Given the description of an element on the screen output the (x, y) to click on. 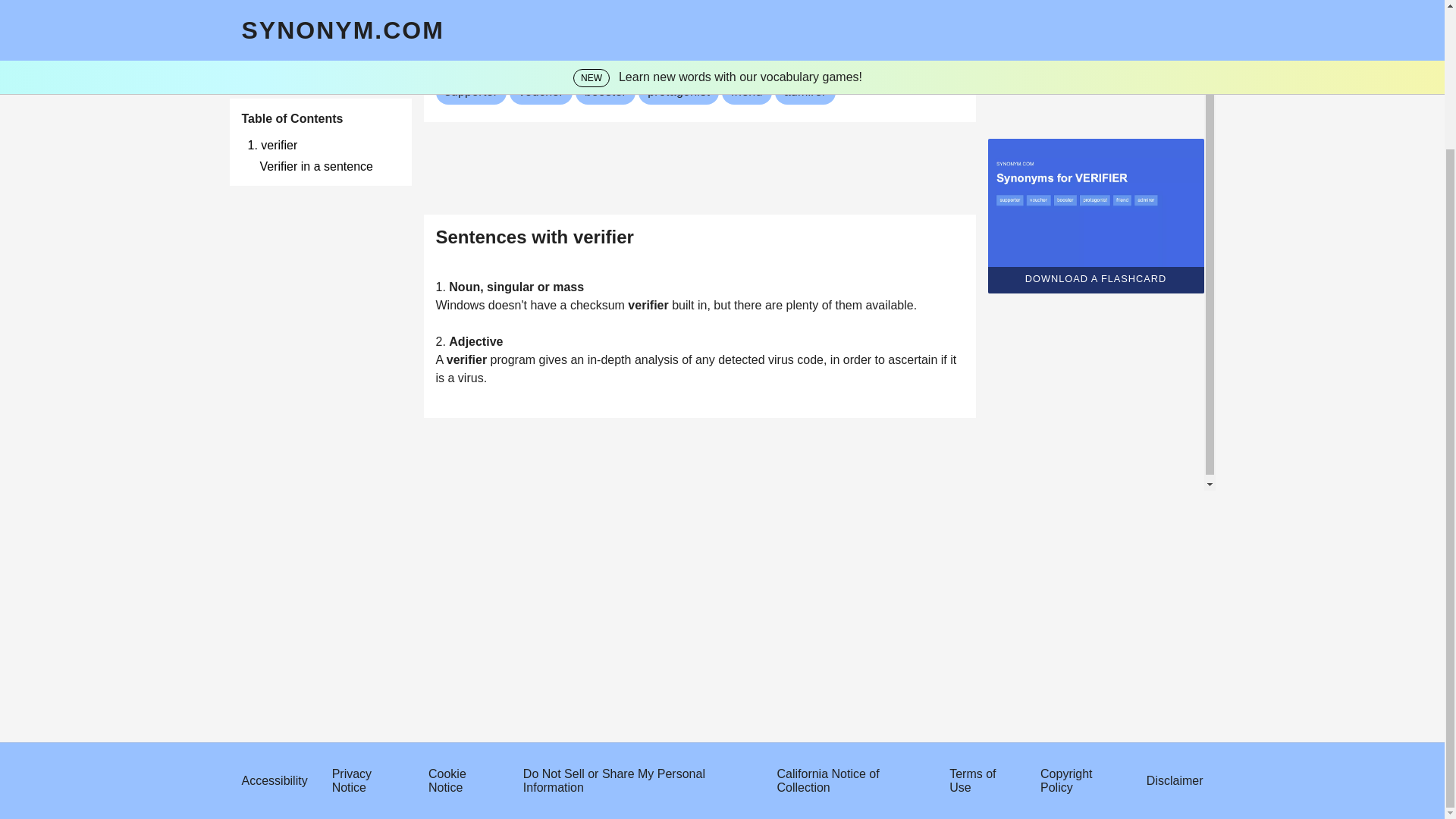
program (514, 359)
them (849, 305)
singular (511, 286)
Windows (461, 305)
statement. (831, 16)
the (703, 16)
in, (705, 305)
for (608, 16)
but (723, 305)
vouches (575, 16)
correctness (745, 16)
admirer (805, 91)
in-depth (611, 359)
someone (497, 16)
